Given the description of an element on the screen output the (x, y) to click on. 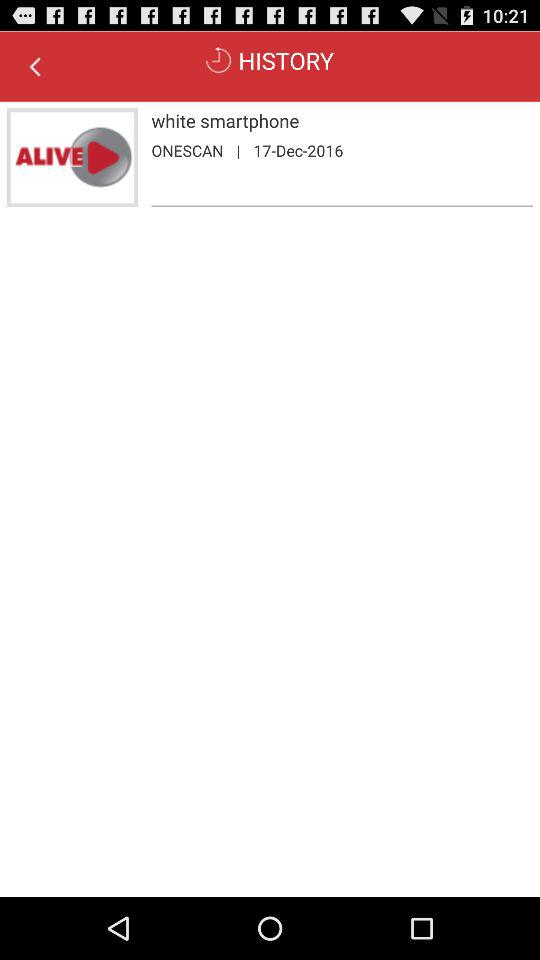
jump to white smartphone icon (342, 120)
